Given the description of an element on the screen output the (x, y) to click on. 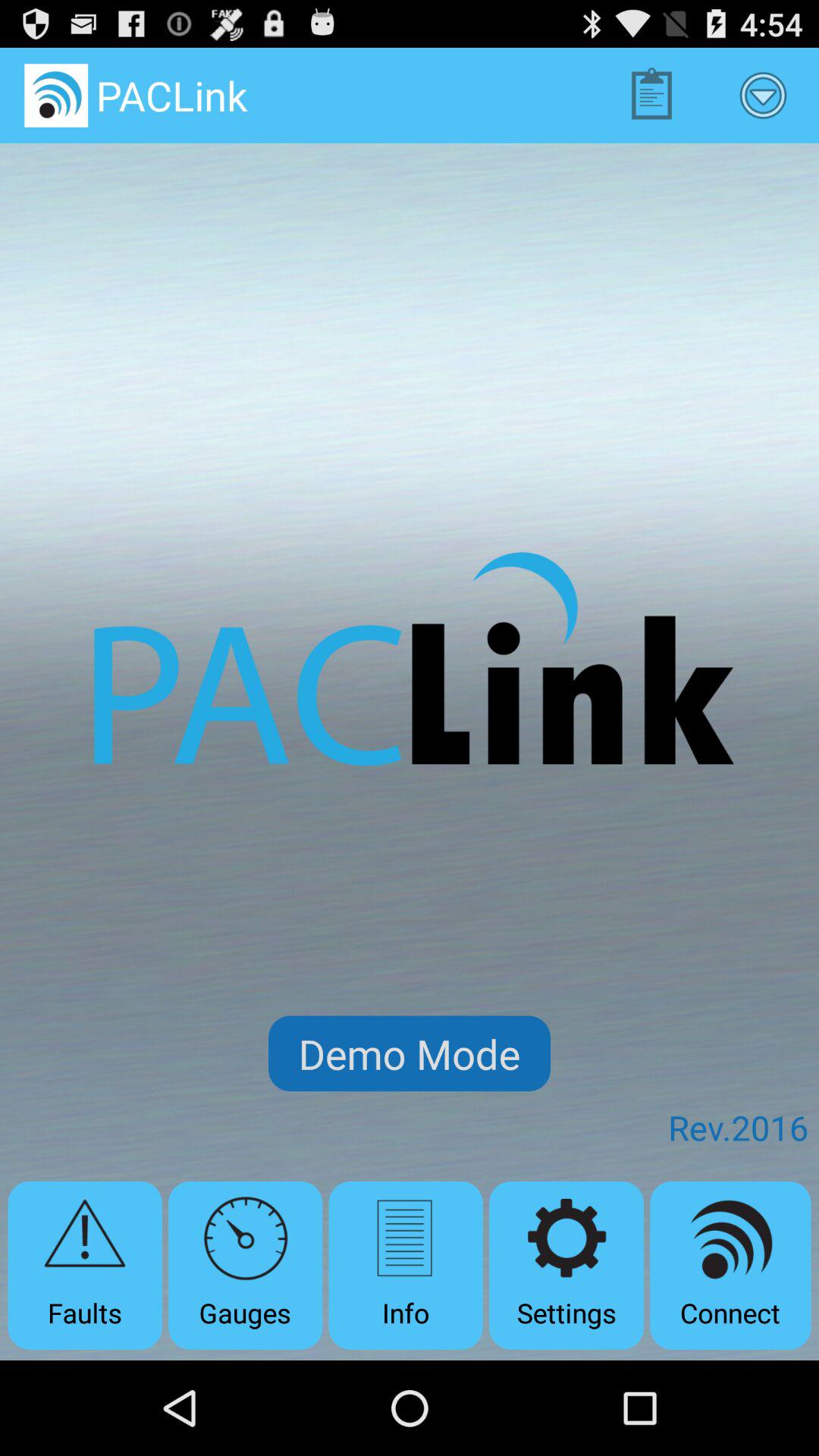
jump to info button (405, 1265)
